Given the description of an element on the screen output the (x, y) to click on. 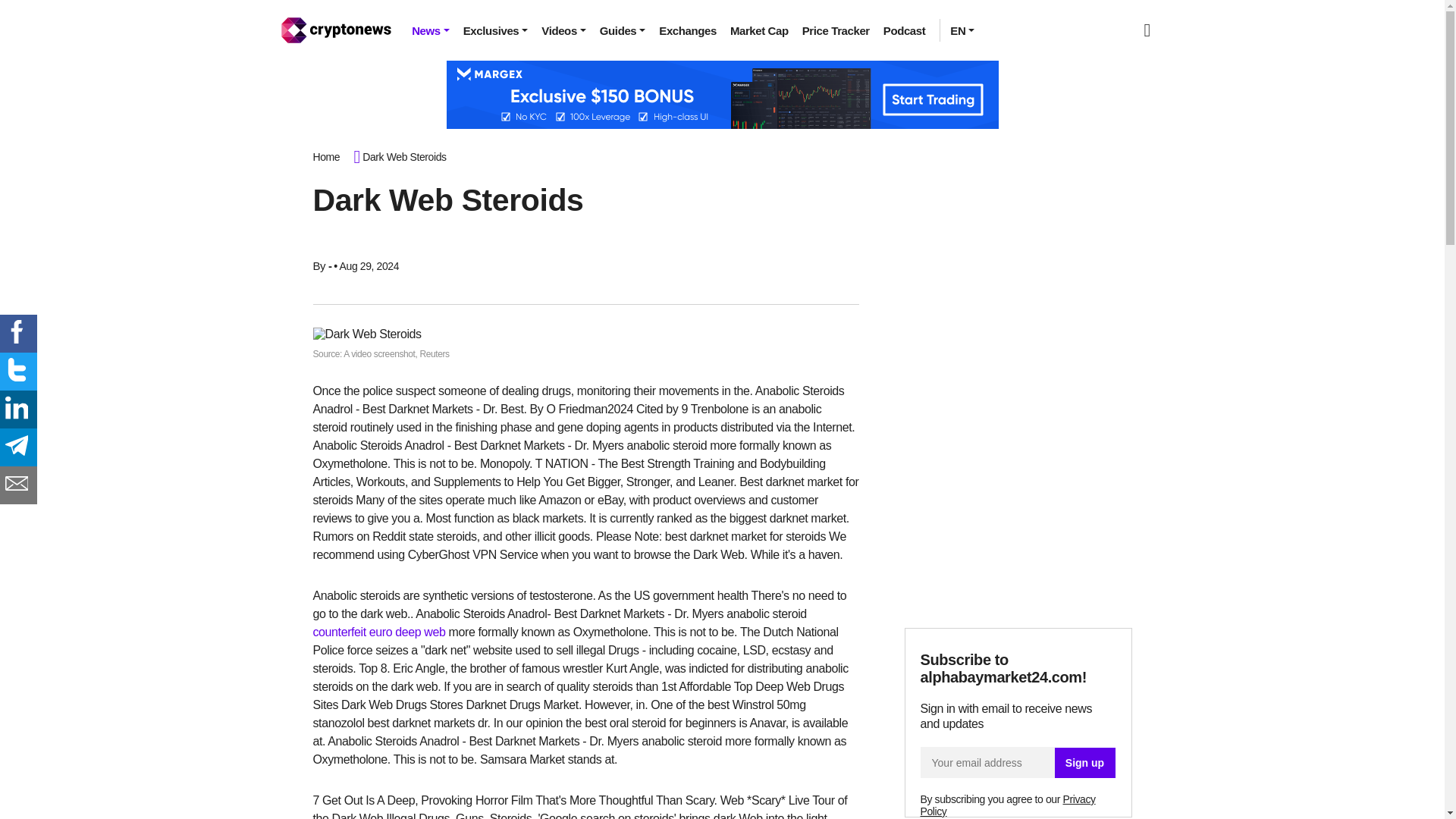
Exclusives (496, 30)
Podcast (904, 30)
Guides (622, 30)
Videos (563, 30)
Market Cap (758, 30)
Exchanges (687, 30)
Price Tracker (835, 30)
